Given the description of an element on the screen output the (x, y) to click on. 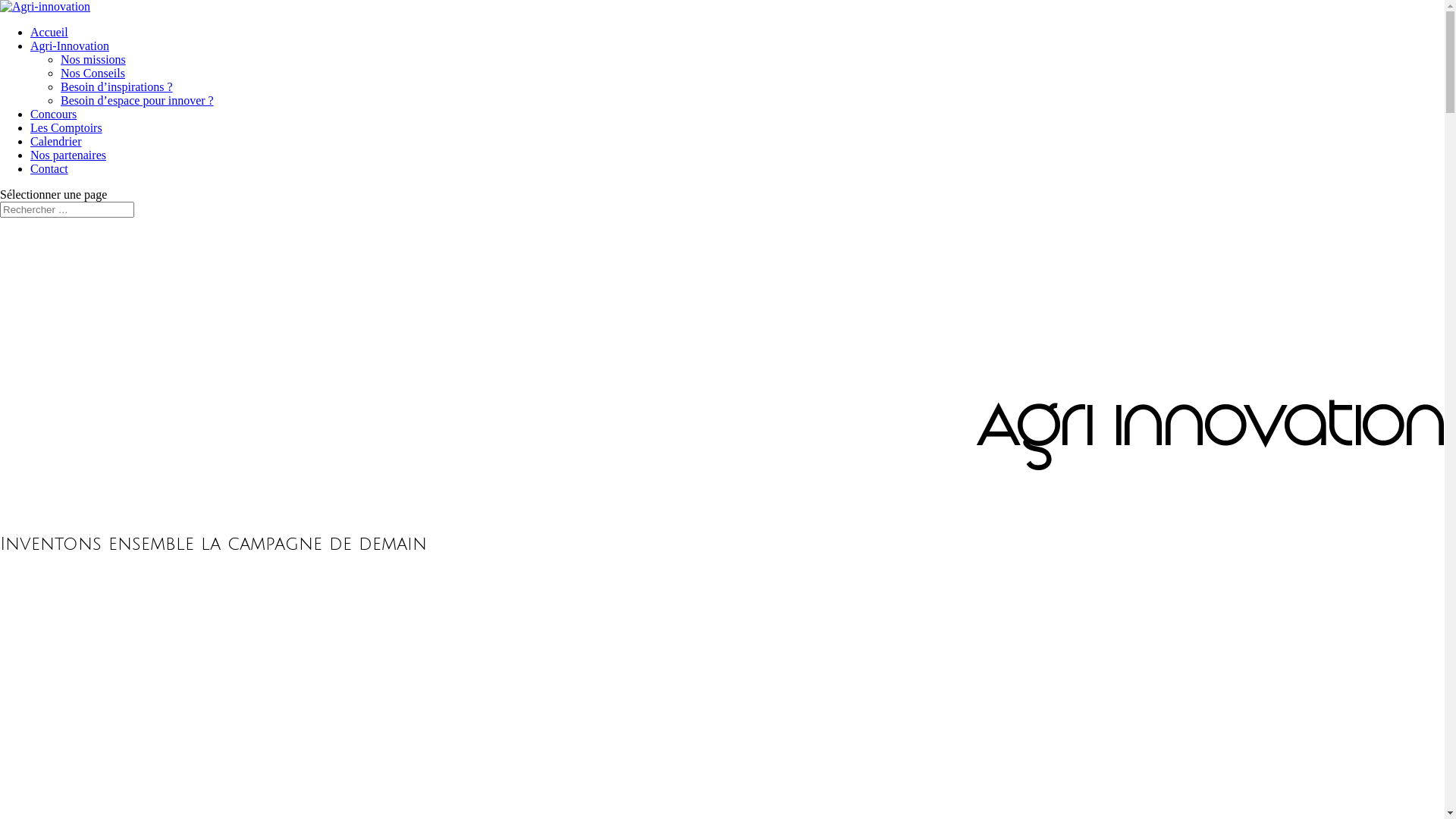
Les Comptoirs Element type: text (66, 127)
Nos missions Element type: text (92, 59)
Contact Element type: text (49, 168)
Accueil Element type: text (49, 31)
Agri-Innovation Element type: text (69, 45)
Nos partenaires Element type: text (68, 154)
Calendrier Element type: text (55, 140)
Rechercher: Element type: hover (67, 209)
Nos Conseils Element type: text (92, 72)
Concours Element type: text (53, 113)
